Given the description of an element on the screen output the (x, y) to click on. 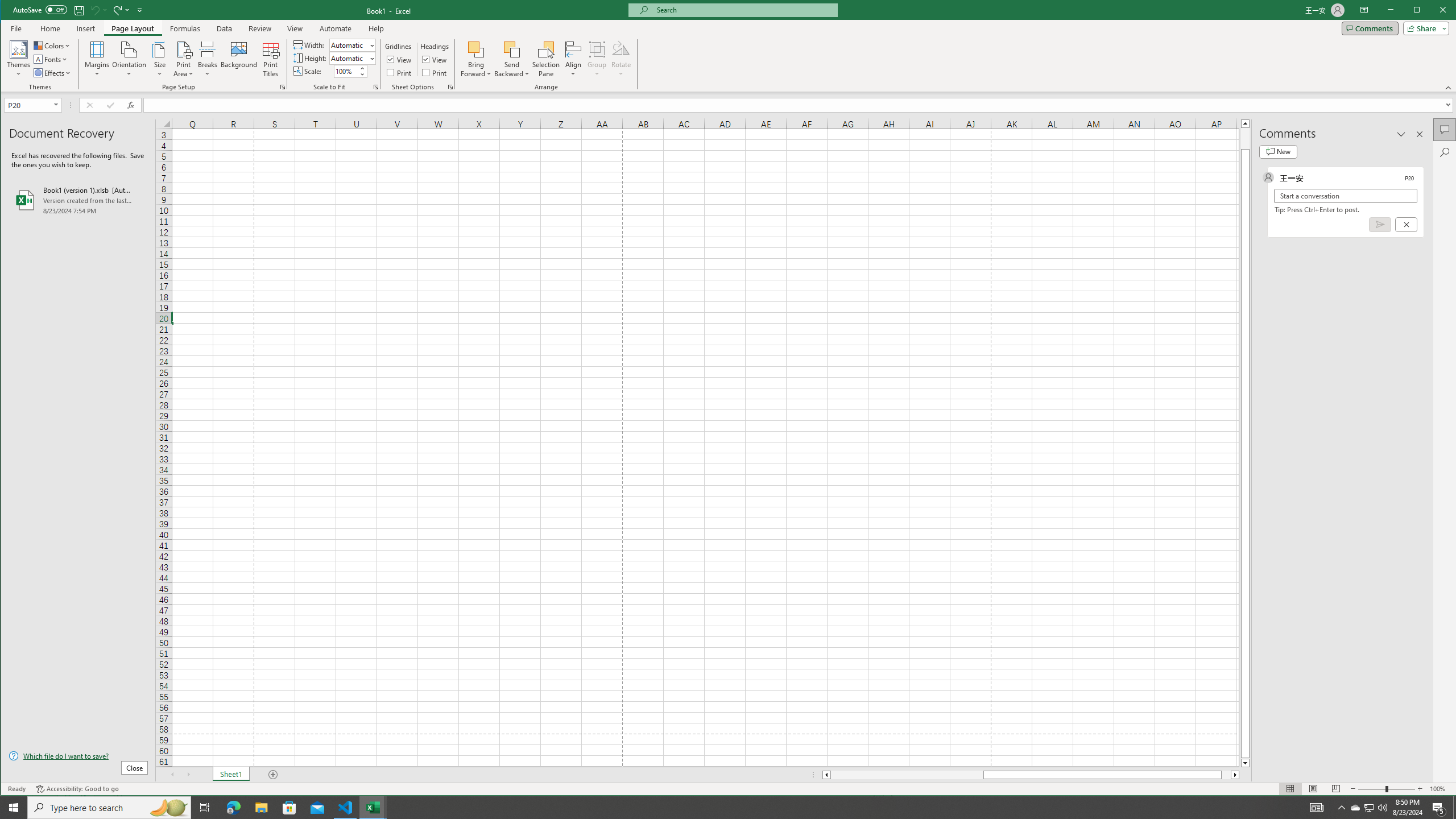
Height (352, 57)
Post comment (Ctrl + Enter) (1379, 224)
Q2790: 100% (1382, 807)
Orientation (129, 59)
More (1355, 807)
